Given the description of an element on the screen output the (x, y) to click on. 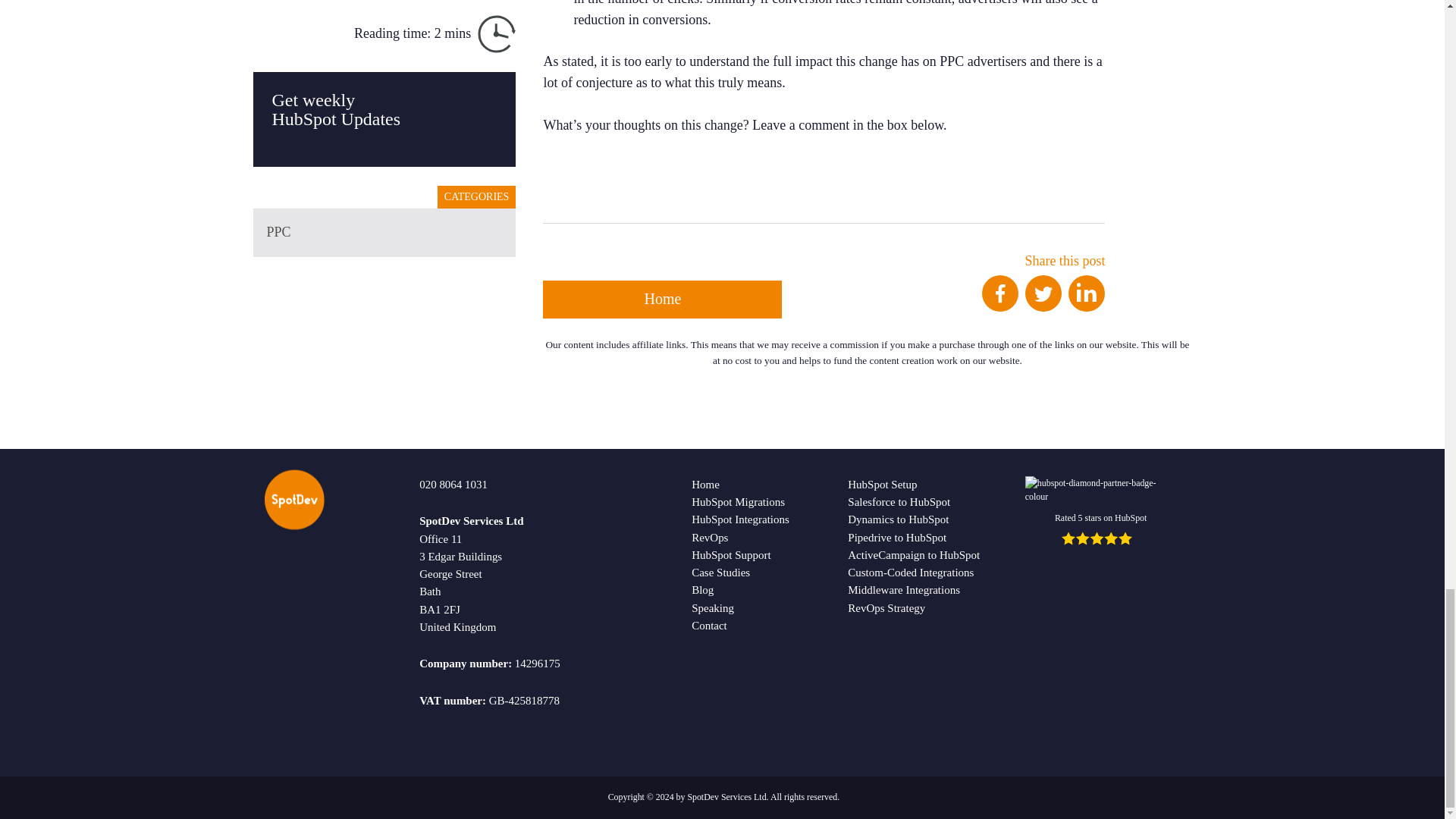
SpotDev Logo (295, 503)
HubSpot Integrations (740, 519)
hubspot-diamond-partner-badge-colour (1100, 489)
Salesforce to HubSpot (898, 501)
LinkedIn (1086, 293)
Dynamics to HubSpot (898, 519)
Home (662, 299)
LinkedIn (1086, 306)
HubSpot Support (731, 554)
Facebook (999, 293)
HubSpot Setup (882, 484)
Twitter (1043, 306)
Pipedrive to HubSpot (896, 537)
Twitter (1043, 293)
Middleware Integrations (903, 589)
